Given the description of an element on the screen output the (x, y) to click on. 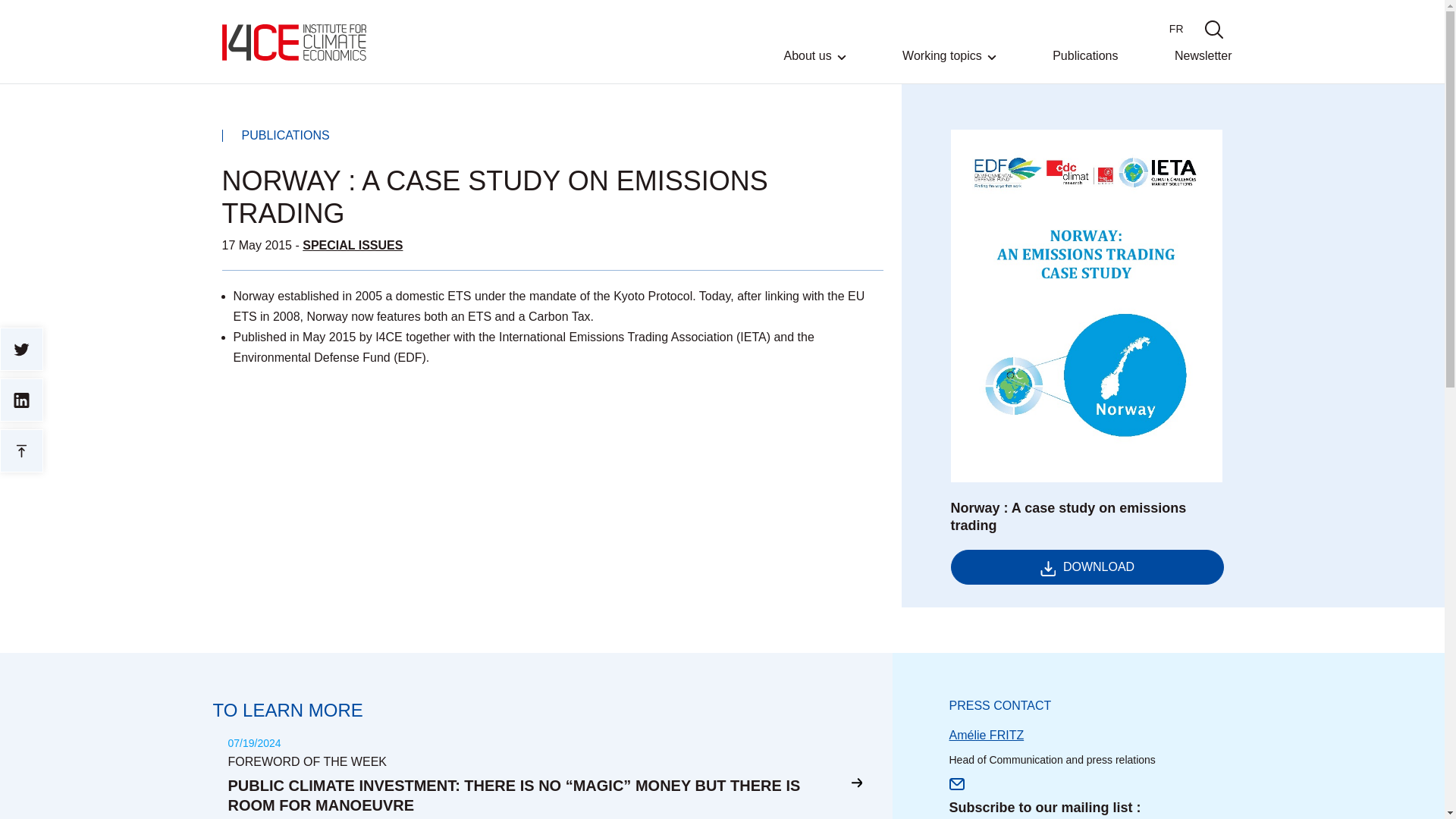
FR (1176, 28)
Newsletter (1202, 66)
search (1213, 29)
I4CE (293, 41)
Publications (1085, 66)
DOWNLOAD (1087, 566)
About us (814, 66)
SPECIAL ISSUES (352, 245)
Working topics (948, 66)
